Given the description of an element on the screen output the (x, y) to click on. 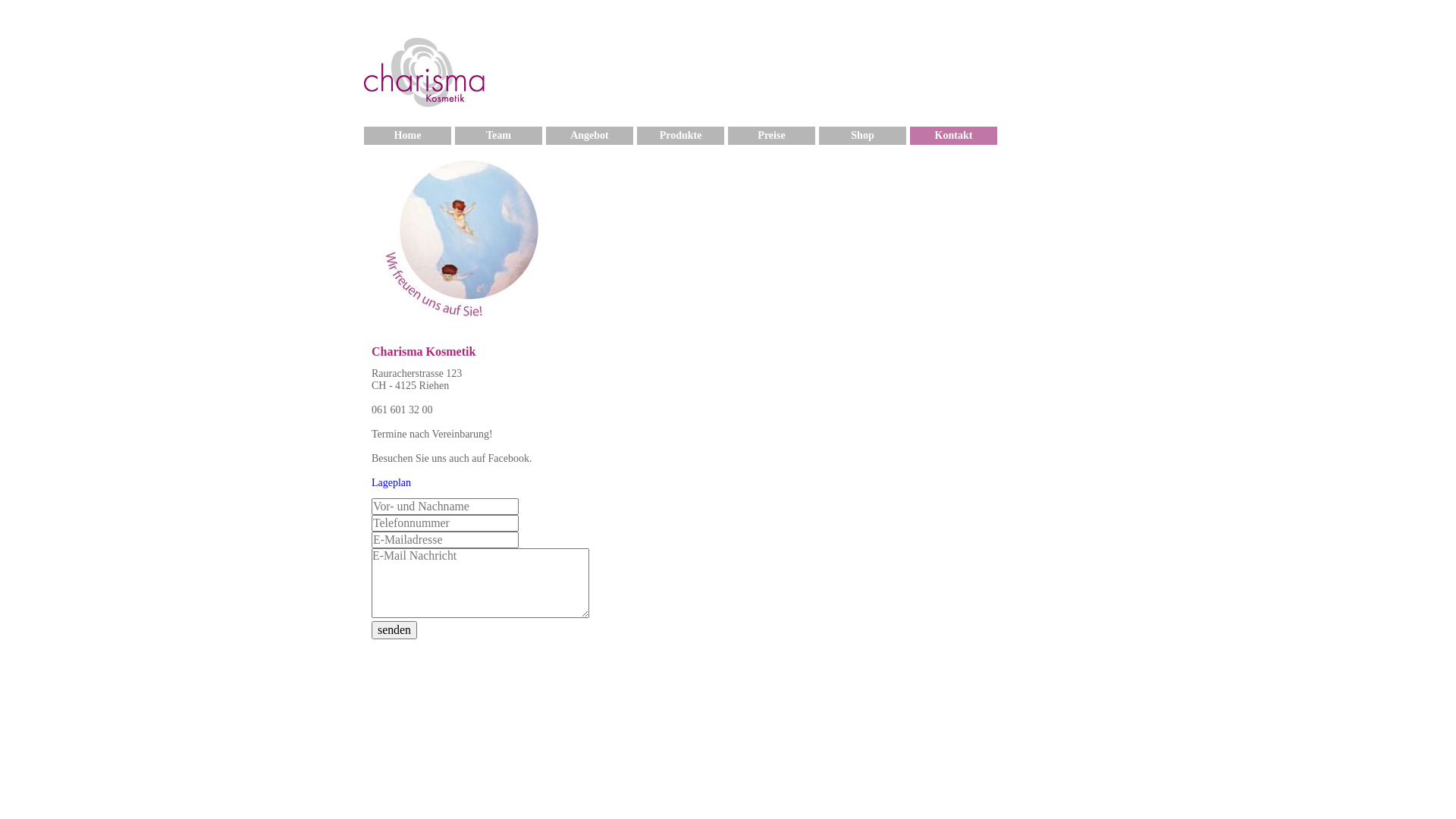
Produkte Element type: text (680, 135)
Shop Element type: text (862, 135)
Home Element type: text (407, 135)
Angebot Element type: text (589, 135)
Team Element type: text (498, 135)
Preise Element type: text (771, 135)
Lageplan Element type: text (391, 482)
senden Element type: text (394, 630)
